Given the description of an element on the screen output the (x, y) to click on. 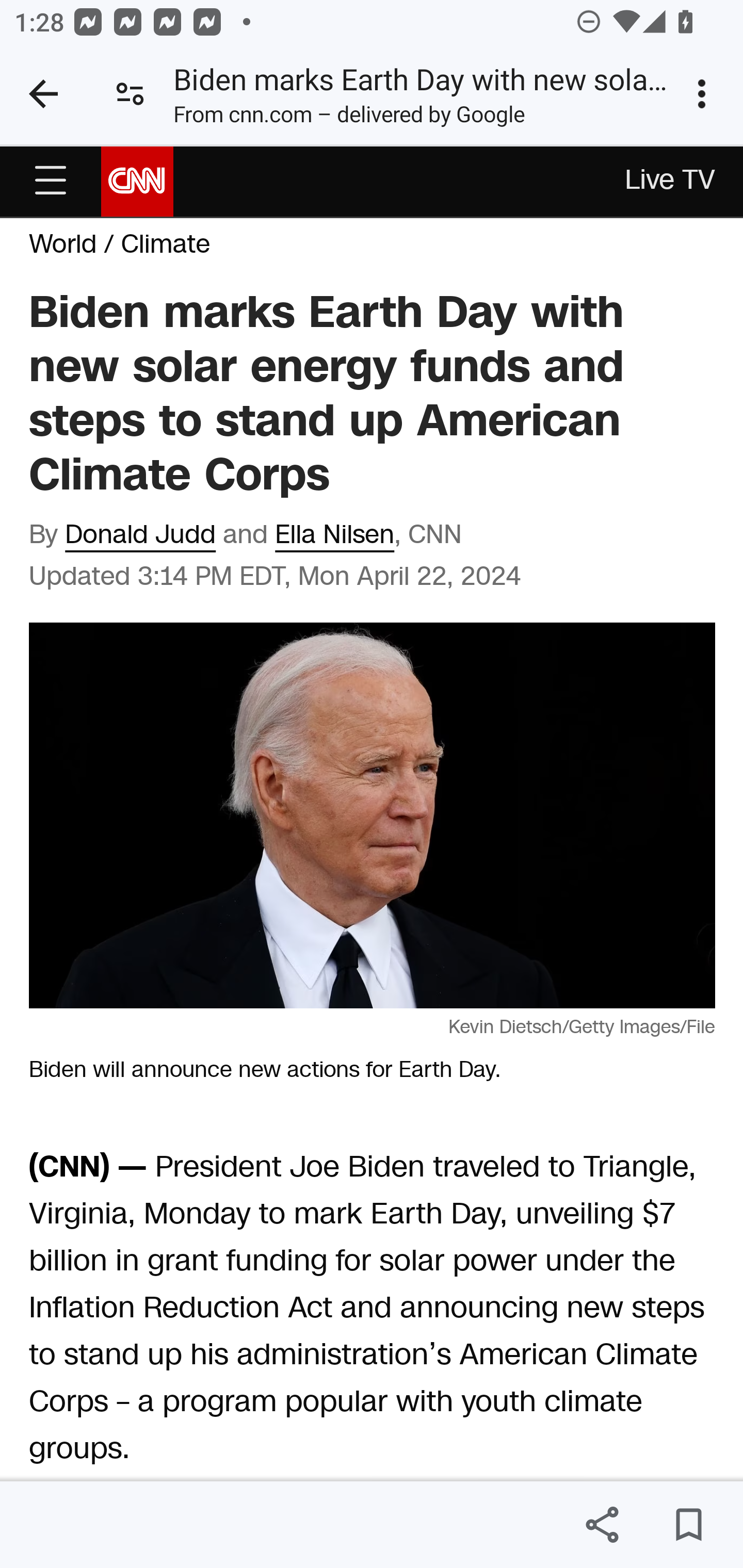
Close tab (43, 93)
Customize and control Google Chrome (705, 93)
Connection is secure (129, 93)
From cnn.com – delivered by Google (349, 117)
CNN logo (137, 180)
biden-earth-day-climate?amp_js_v=0 (50, 180)
Live TV (670, 181)
World (62, 245)
Climate (164, 245)
Donald Judd (140, 535)
Ella Nilsen (334, 535)
Biden will announce new actions for Earth Day. (372, 814)
Share (601, 1524)
Save for later (688, 1524)
